Given the description of an element on the screen output the (x, y) to click on. 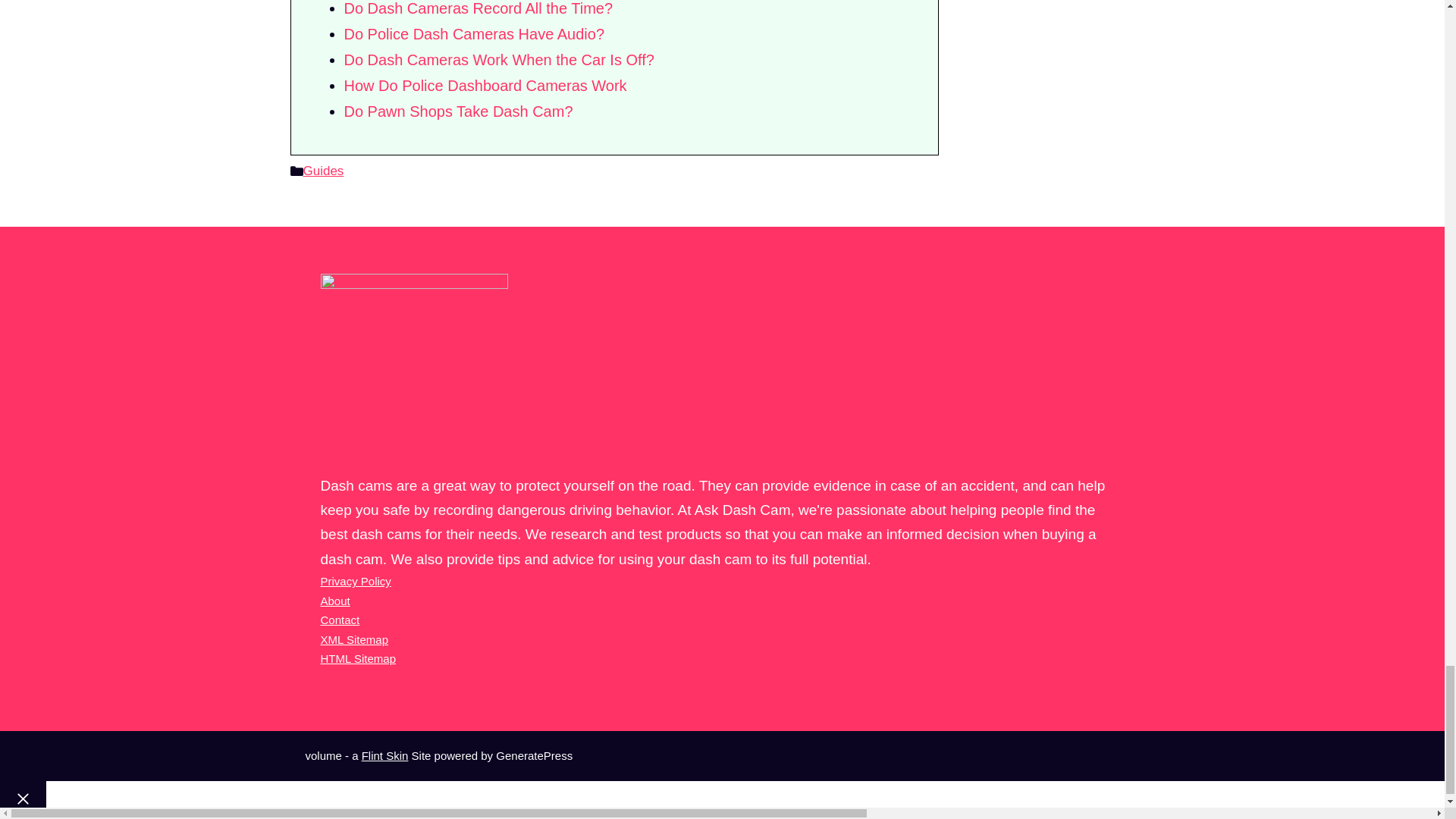
How Do Police Dashboard Cameras Work (485, 85)
Guides (322, 170)
Do Dash Cameras Record All the Time? (477, 8)
Do Dash Cameras Work When the Car Is Off? (498, 59)
Do Police Dash Cameras Have Audio? (474, 33)
Do Pawn Shops Take Dash Cam? (458, 111)
